Given the description of an element on the screen output the (x, y) to click on. 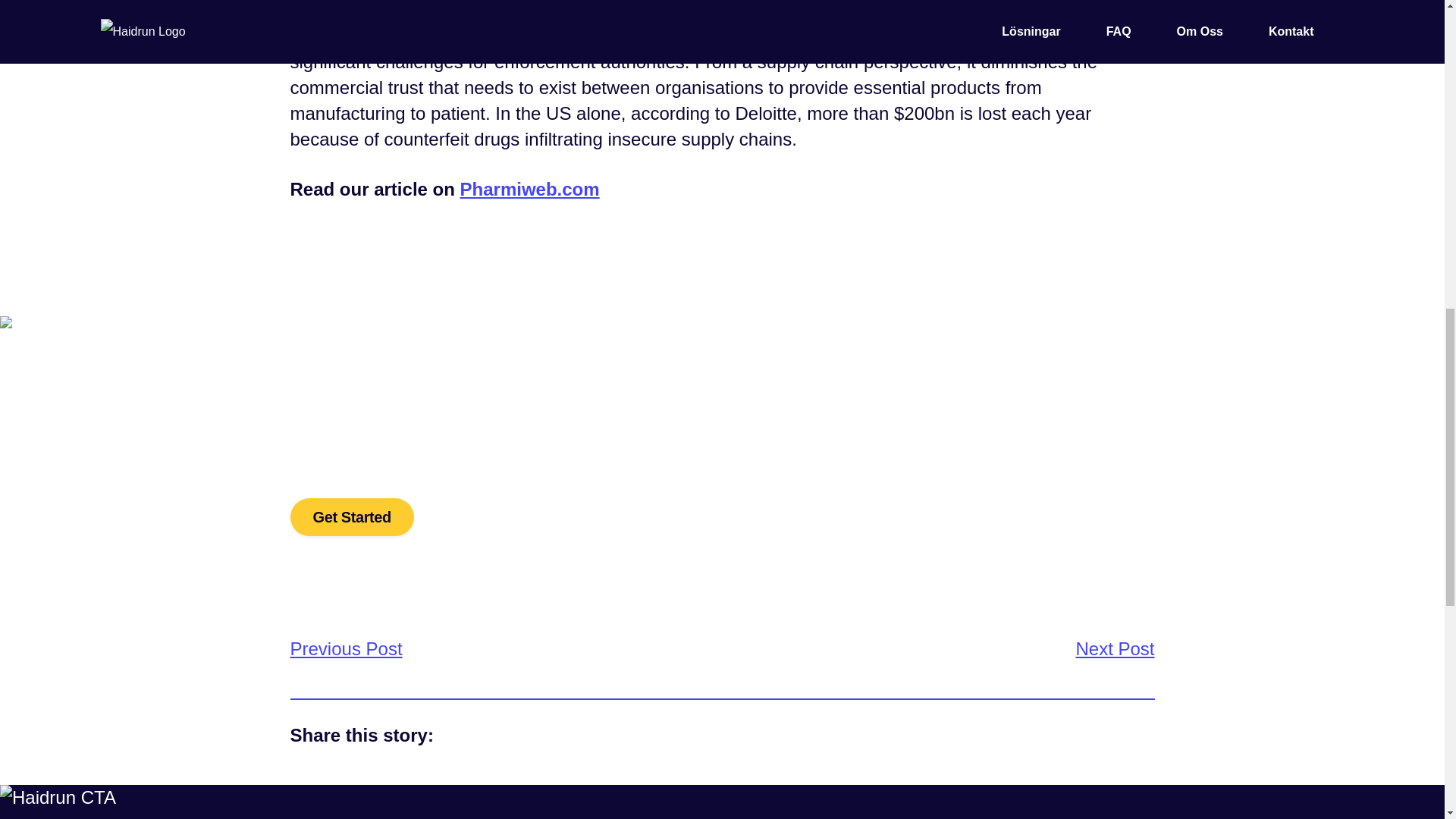
Pharmiweb.com (529, 189)
View Policy. (888, 792)
Get Started (351, 516)
Next Post (1114, 648)
Previous Post (345, 648)
Got it (986, 792)
